Given the description of an element on the screen output the (x, y) to click on. 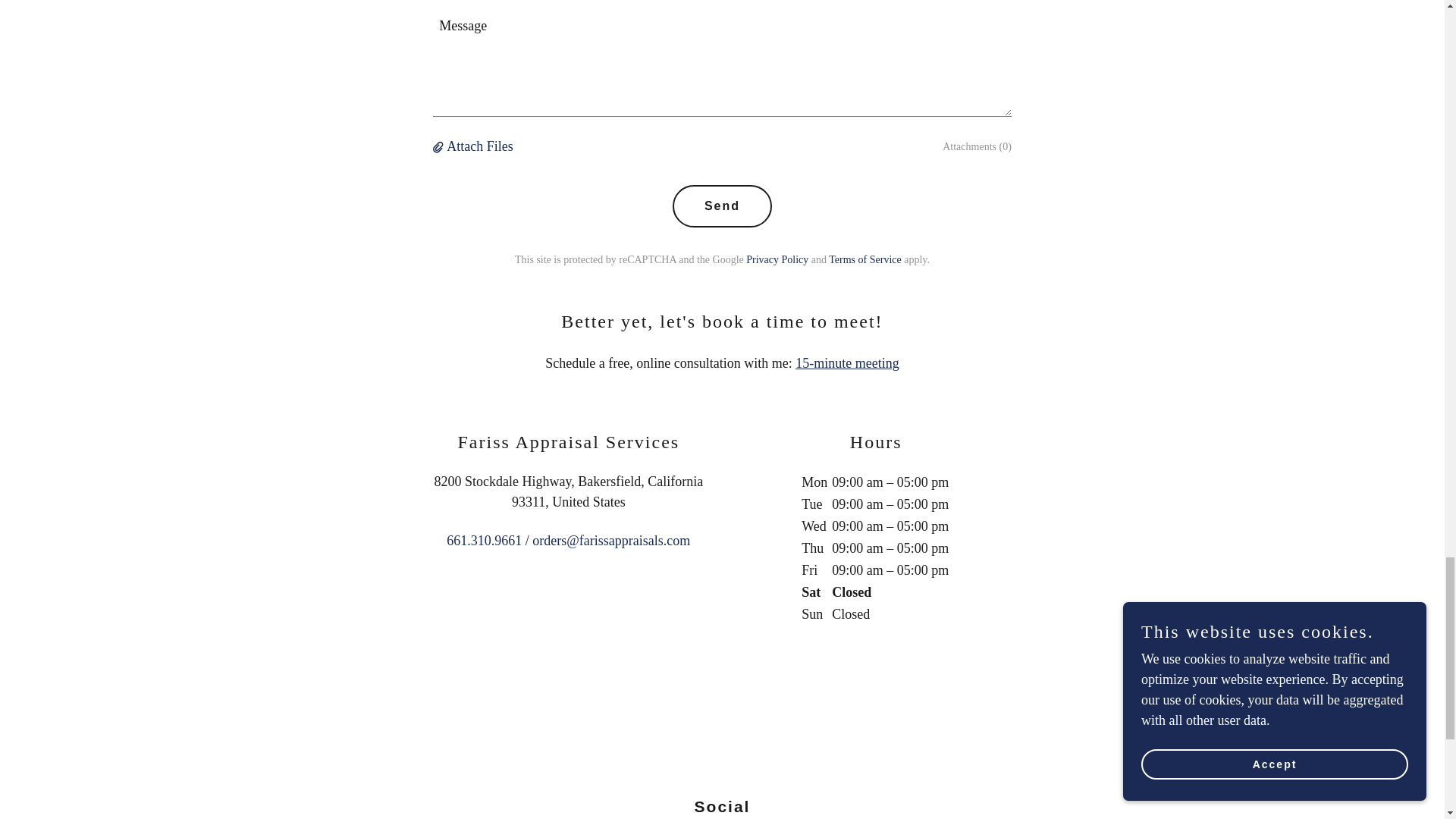
Send (721, 206)
661.310.9661 (483, 540)
Privacy Policy (776, 259)
Terms of Service (864, 259)
15-minute meeting (846, 363)
